Given the description of an element on the screen output the (x, y) to click on. 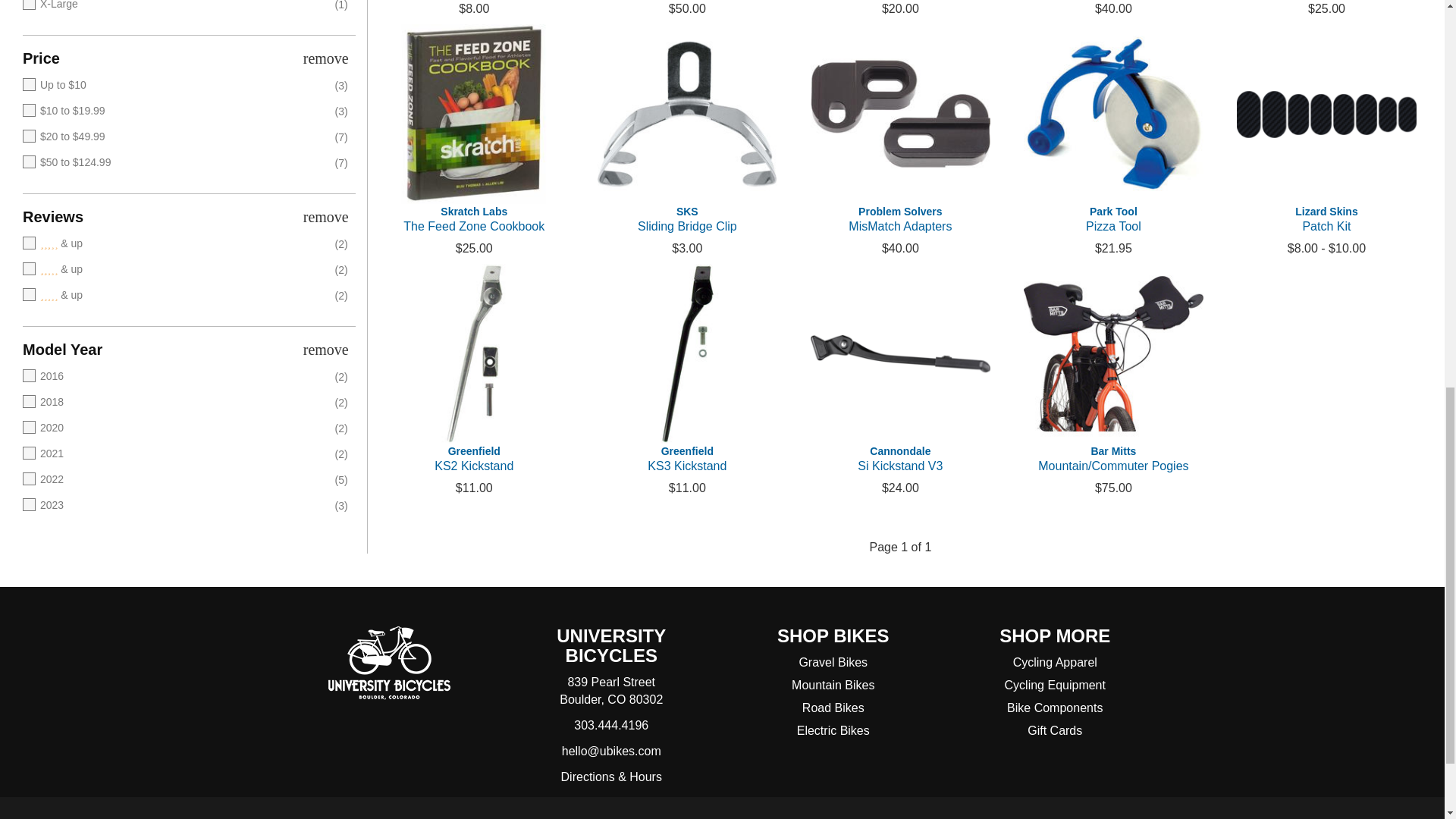
2 (168, 269)
1 (168, 295)
3 (168, 243)
